Given the description of an element on the screen output the (x, y) to click on. 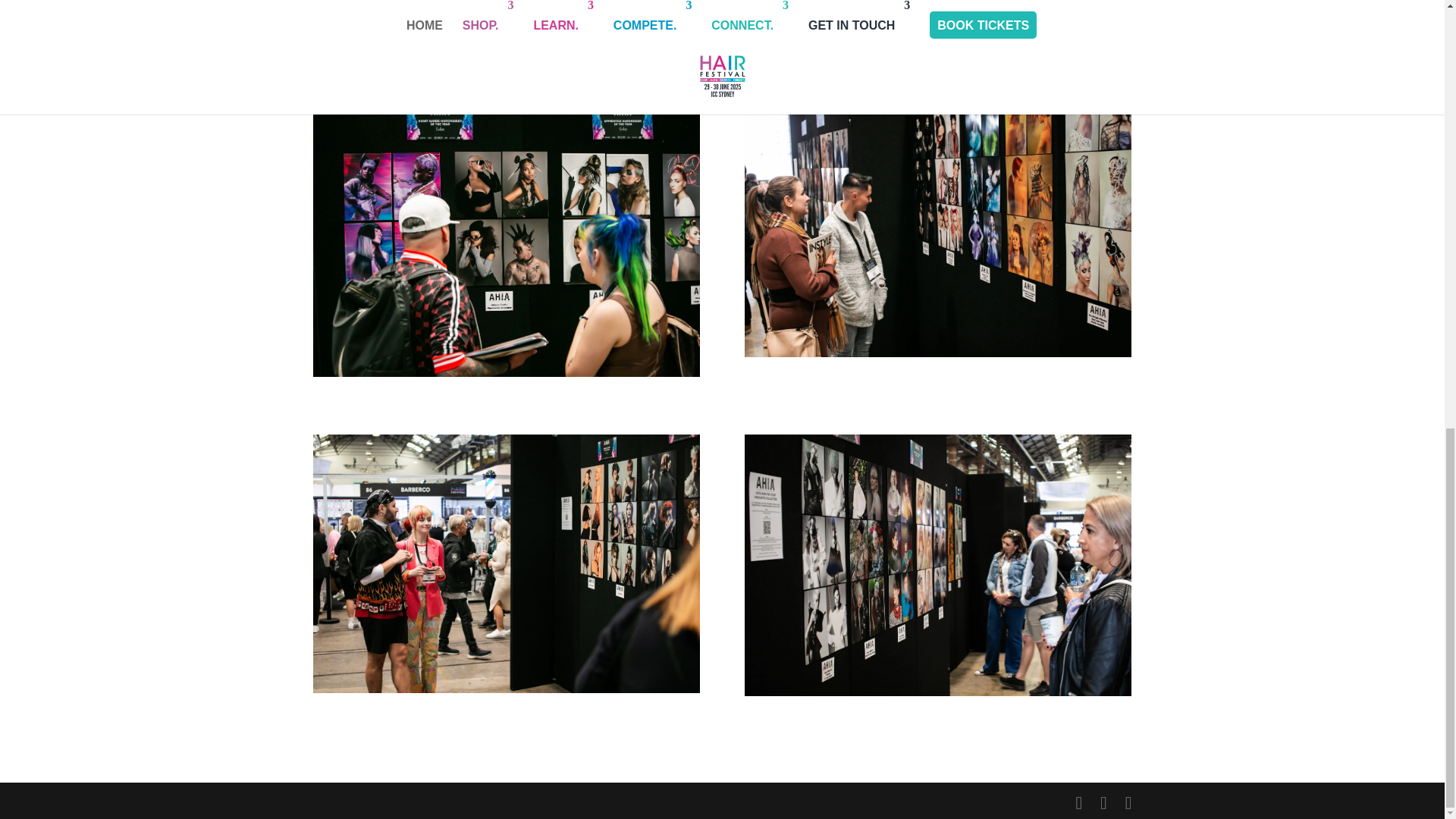
Hair-Festival-2023-Day-One-0405 (937, 565)
Hair-Festival-2023-Day-One-0289 (505, 235)
Hair-Festival-2023-Day-One-0214 (937, 226)
Hair-Festival-2023-Day-One-0409 (505, 563)
Mocha Group (721, 18)
